Given the description of an element on the screen output the (x, y) to click on. 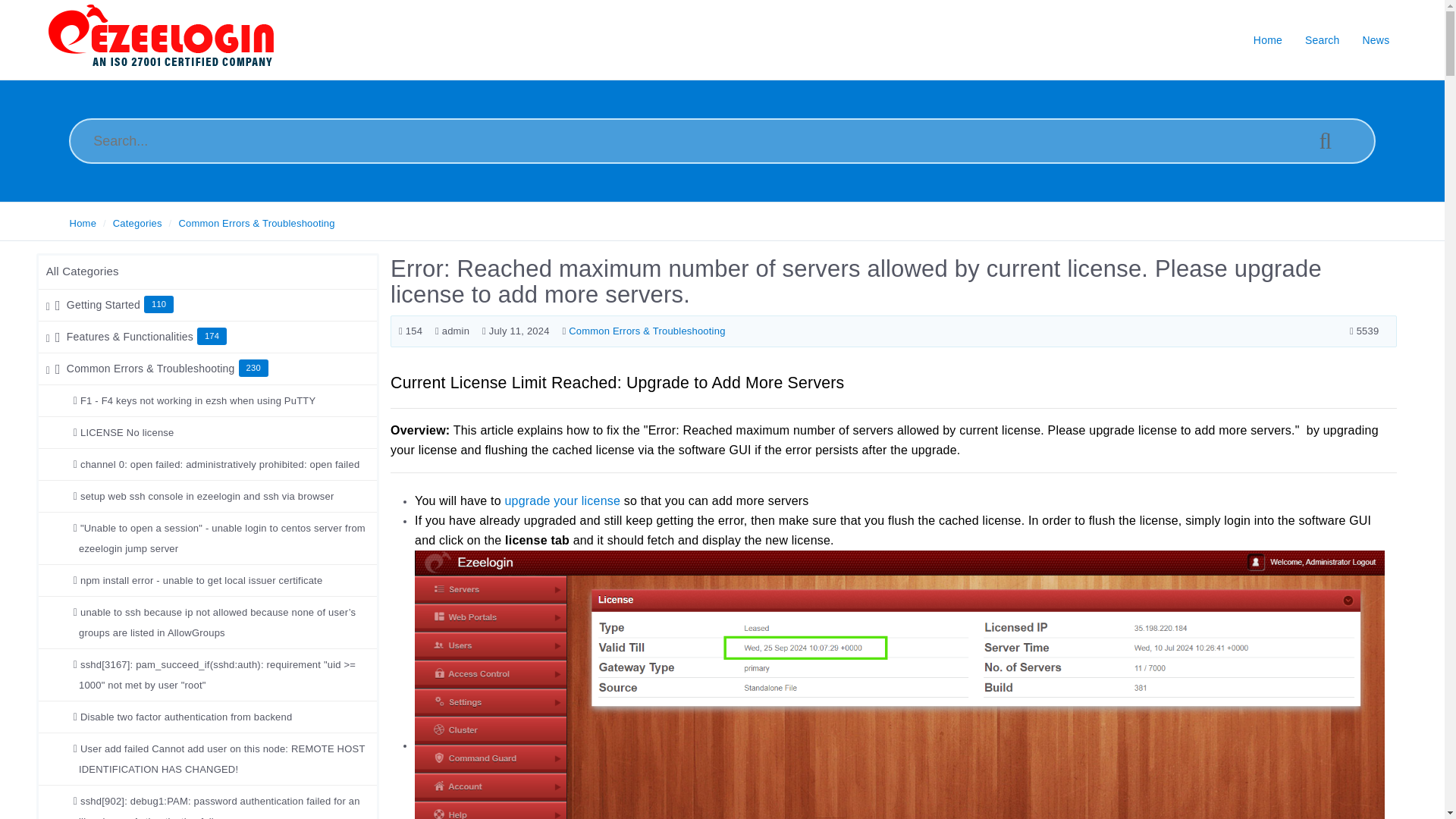
Categories (137, 223)
setup web ssh console in ezeelogin and ssh via browser (207, 495)
Home (82, 223)
Getting Started (104, 305)
All Categories (82, 270)
Disable two factor authentication from backend (186, 716)
npm install error - unable to get local issuer certificate (202, 580)
Author: admin (451, 330)
5539 Views (1363, 331)
Updated On: July 11, 2024 (515, 330)
F1 - F4 keys not working in ezsh when using PuTTY (198, 400)
Posted Under (643, 330)
